Given the description of an element on the screen output the (x, y) to click on. 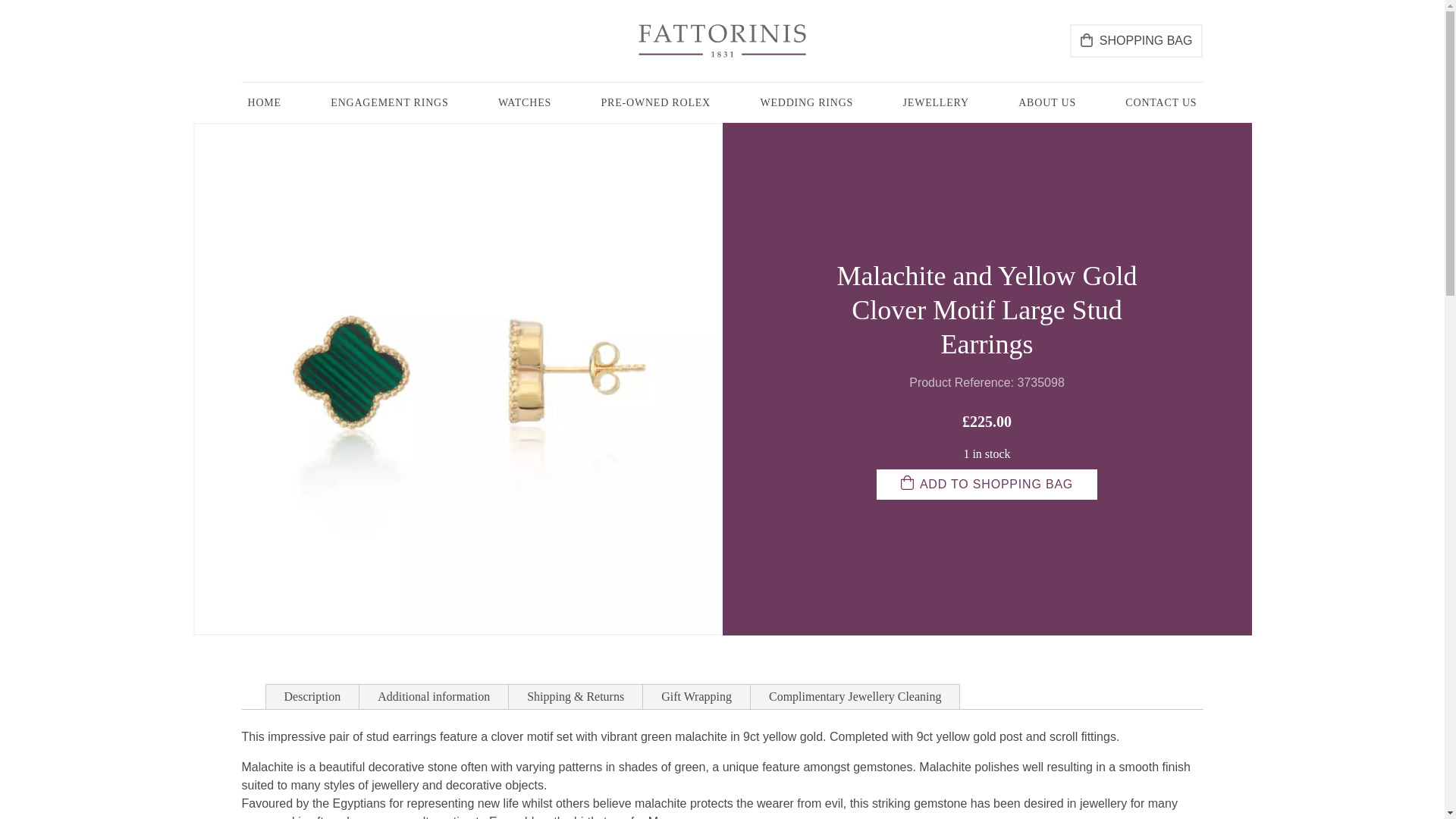
Gift Wrapping (696, 696)
CONTACT US (1160, 102)
Complimentary Jewellery Cleaning (855, 696)
SHOPPING BAG (1136, 40)
WEDDING RINGS (806, 102)
WATCHES (524, 102)
HOME (263, 102)
PRE-OWNED ROLEX (655, 102)
JEWELLERY (935, 102)
ABOUT US (1046, 102)
